Given the description of an element on the screen output the (x, y) to click on. 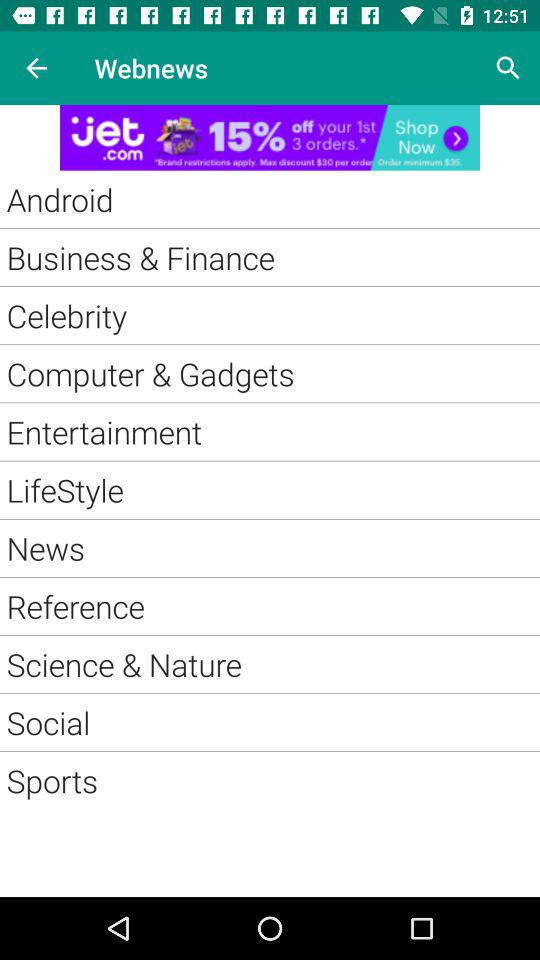
advertisement (270, 137)
